Given the description of an element on the screen output the (x, y) to click on. 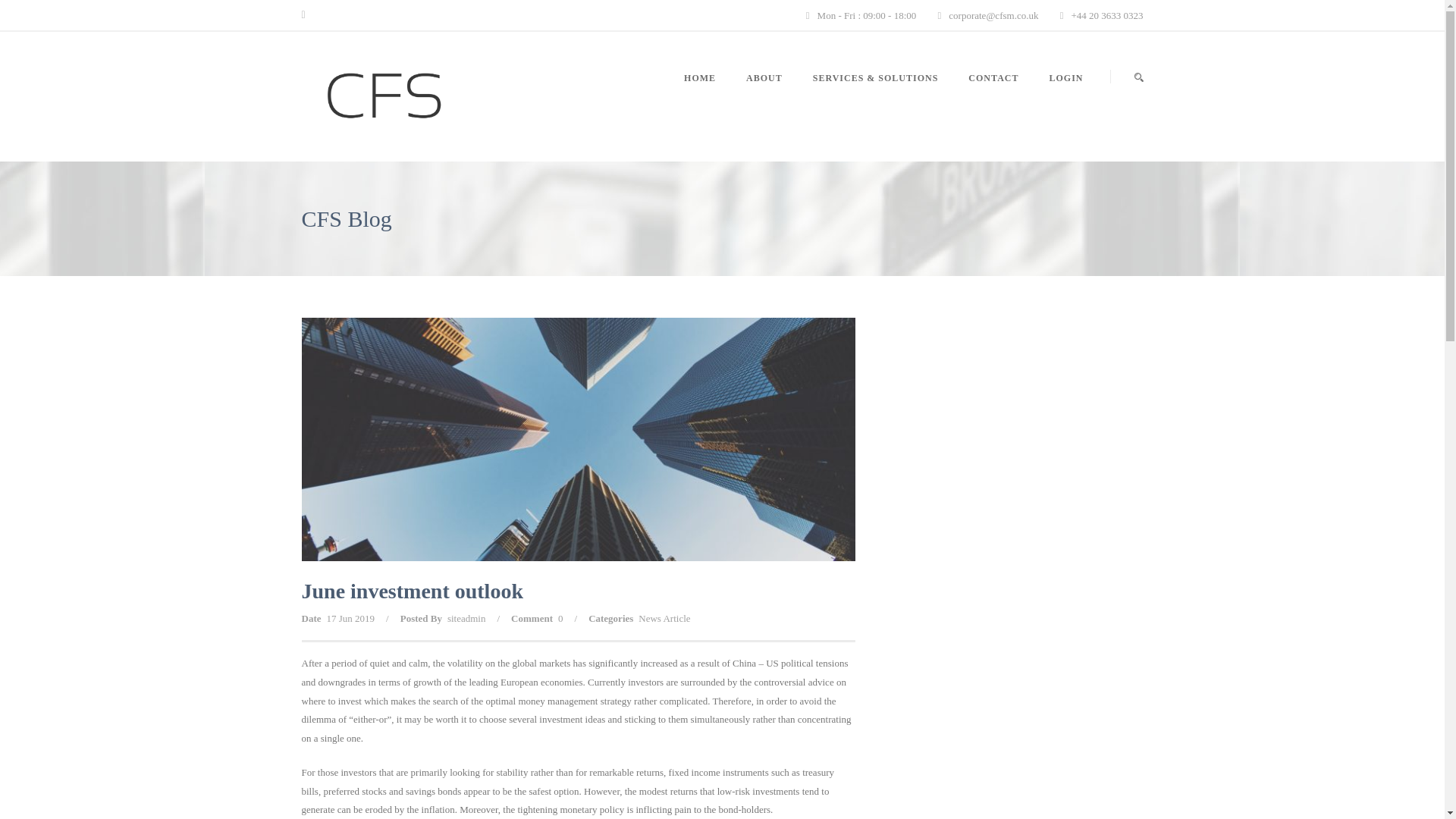
17 Jun 2019 (350, 618)
Posts by siteadmin (466, 618)
ABOUT (763, 95)
News Article (664, 618)
CONTACT (993, 95)
LOGIN (1058, 95)
siteadmin (466, 618)
